Given the description of an element on the screen output the (x, y) to click on. 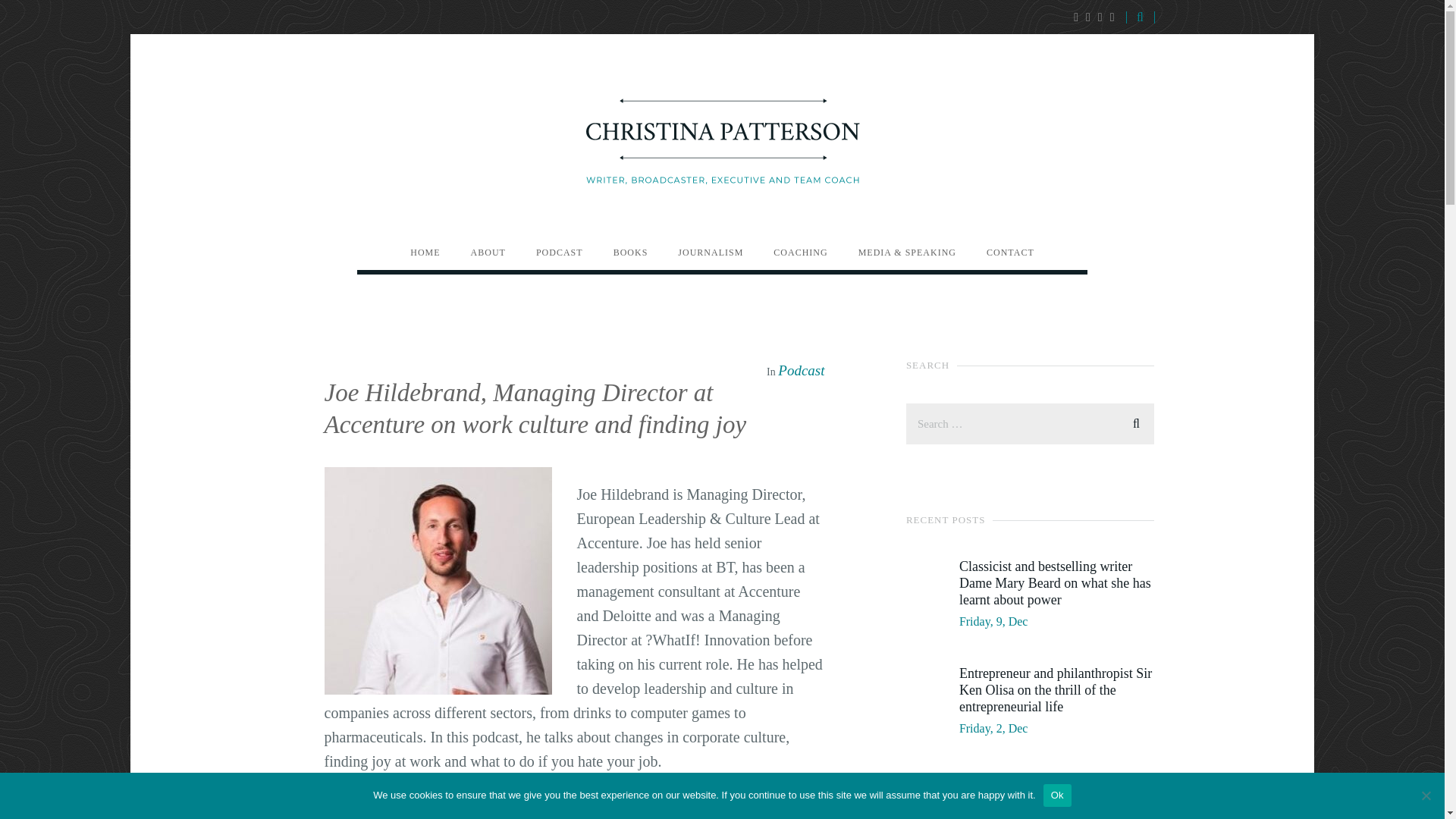
Search (1136, 421)
Search (1136, 421)
No (1425, 795)
JOURNALISM (710, 252)
BOOKS (629, 252)
ABOUT (487, 252)
PODCAST (559, 252)
